Given the description of an element on the screen output the (x, y) to click on. 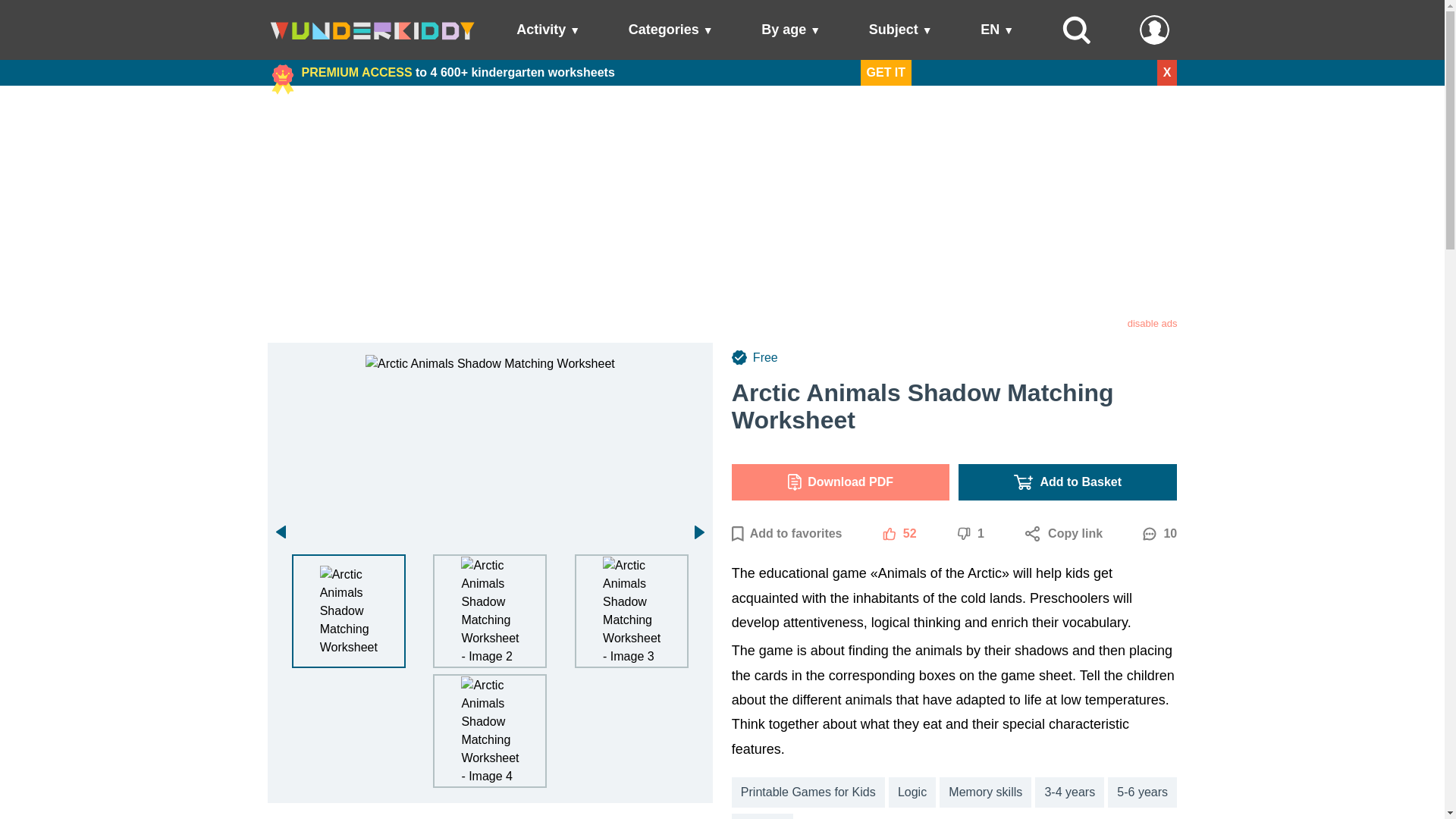
Memory skills (984, 792)
Download PDF  (841, 482)
All materials from the category Memory skills (984, 792)
All materials from the category Logic (912, 792)
disable ads (1151, 323)
Add to favorites (787, 533)
Disable all ads on the site (1151, 323)
10 (1158, 533)
5-6 years (1142, 792)
Animals (762, 816)
